Given the description of an element on the screen output the (x, y) to click on. 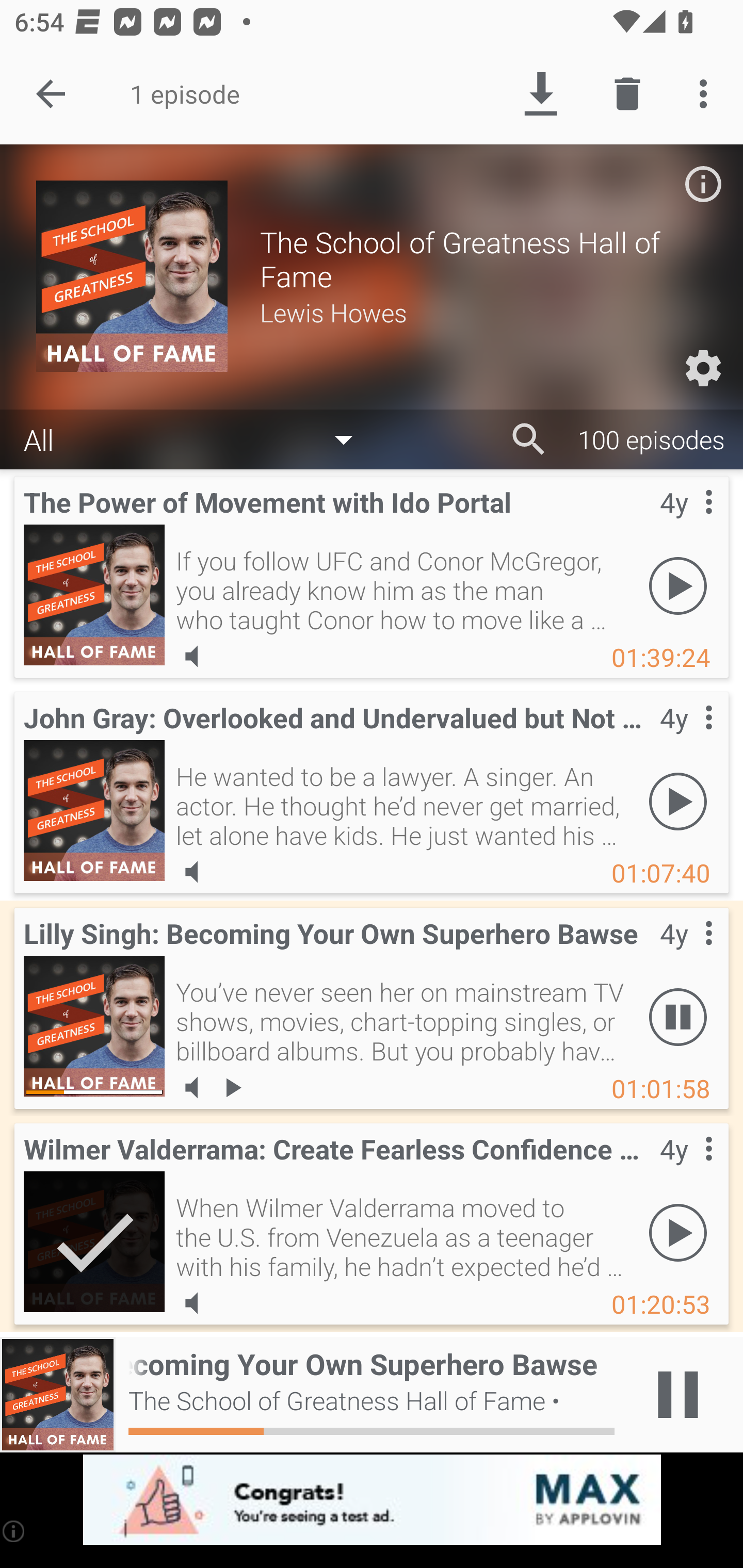
Done (50, 93)
Download (540, 93)
Delete episode (626, 93)
More options (706, 93)
Podcast description (703, 184)
Lewis Howes (483, 311)
Custom Settings (703, 368)
Search (528, 439)
All (197, 438)
Contextual menu (685, 522)
The Power of Movement with Ido Portal (93, 594)
Play (677, 585)
Contextual menu (685, 738)
Play (677, 801)
Contextual menu (685, 954)
Lilly Singh: Becoming Your Own Superhero Bawse (93, 1026)
Pause (677, 1016)
Contextual menu (685, 1169)
Play (677, 1232)
Play / Pause (677, 1394)
app-monetization (371, 1500)
(i) (14, 1531)
